Given the description of an element on the screen output the (x, y) to click on. 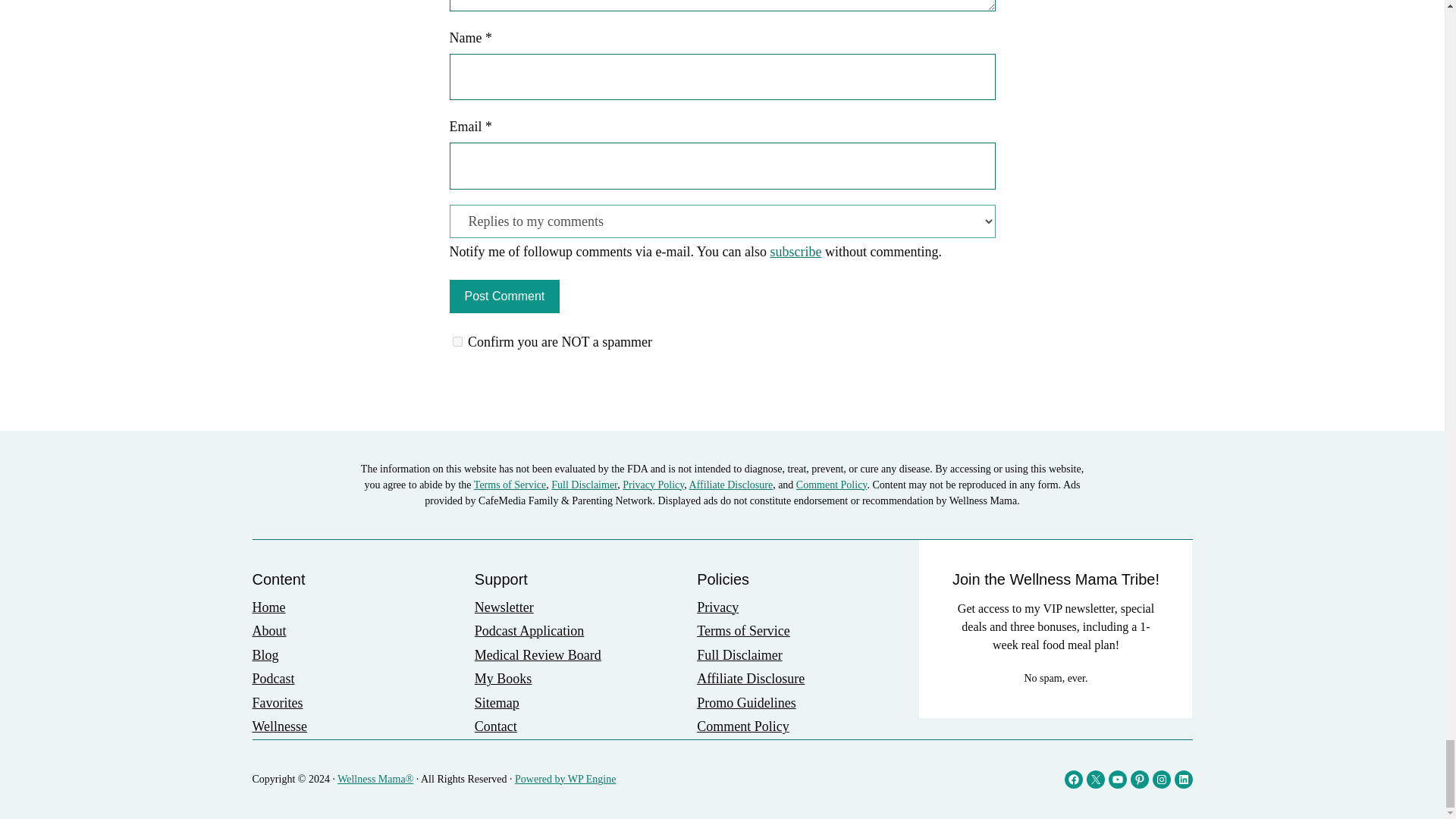
on (456, 341)
Post Comment (503, 296)
